Given the description of an element on the screen output the (x, y) to click on. 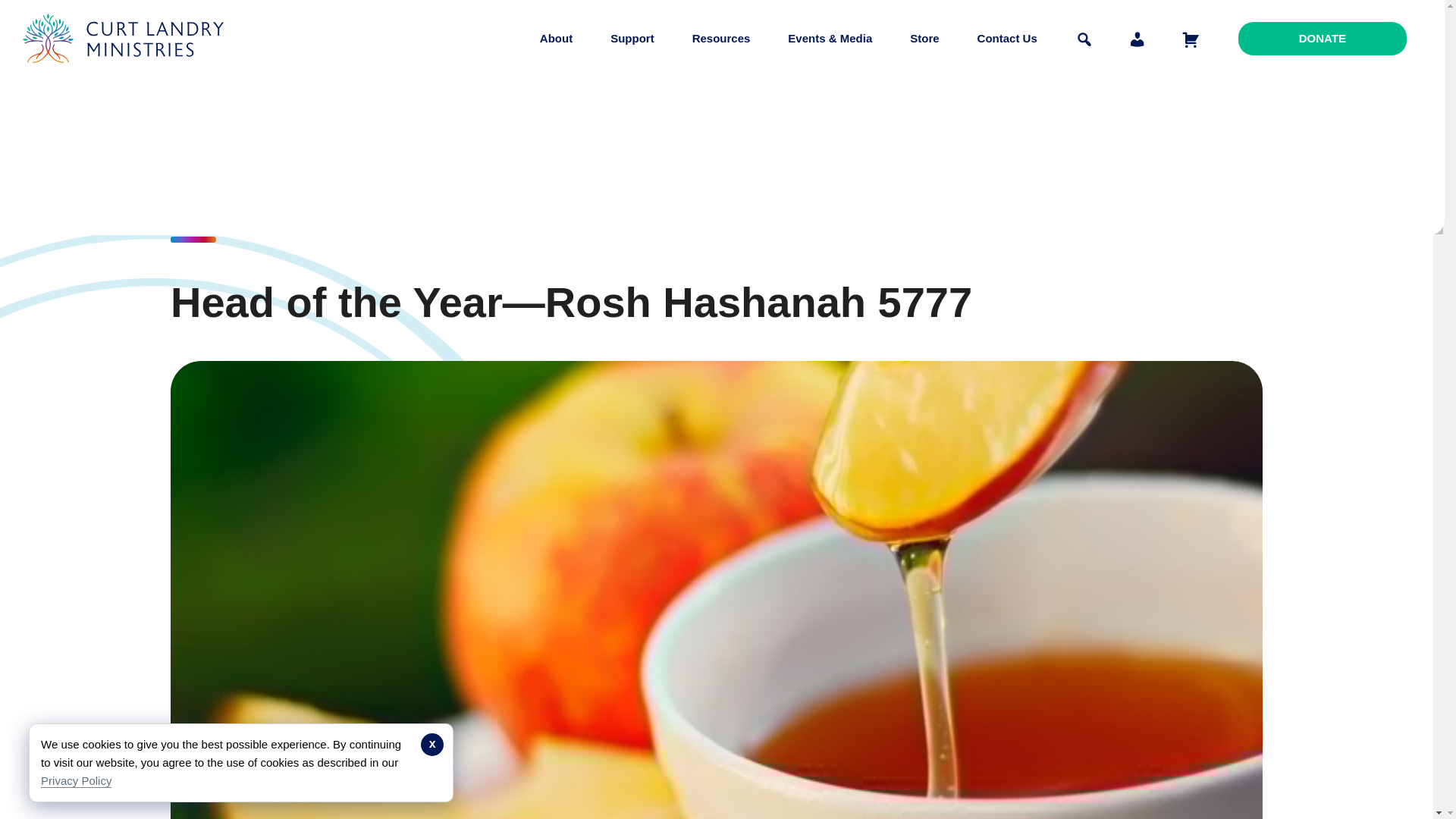
Resources (721, 38)
Support (631, 38)
About (556, 38)
Curt Landry Ministries (127, 74)
Store (924, 38)
